Given the description of an element on the screen output the (x, y) to click on. 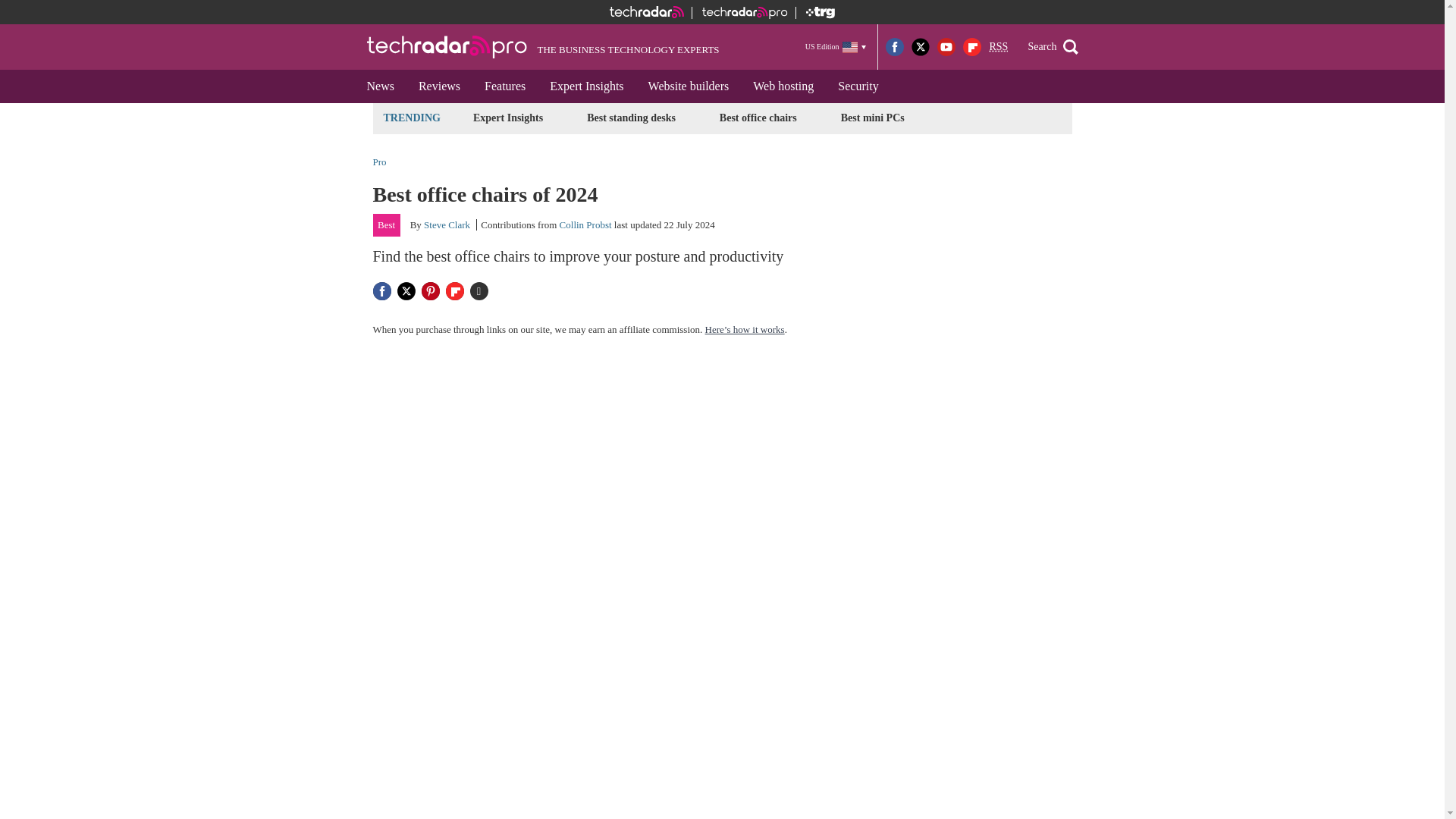
Features (504, 86)
News (380, 86)
Expert Insights (585, 86)
Security (857, 86)
Really Simple Syndication (997, 46)
Reviews (438, 86)
US Edition (836, 46)
Best office chairs (758, 117)
THE BUSINESS TECHNOLOGY EXPERTS (542, 46)
Best standing desks (630, 117)
Website builders (688, 86)
RSS (997, 46)
Web hosting (783, 86)
Expert Insights (507, 117)
